Given the description of an element on the screen output the (x, y) to click on. 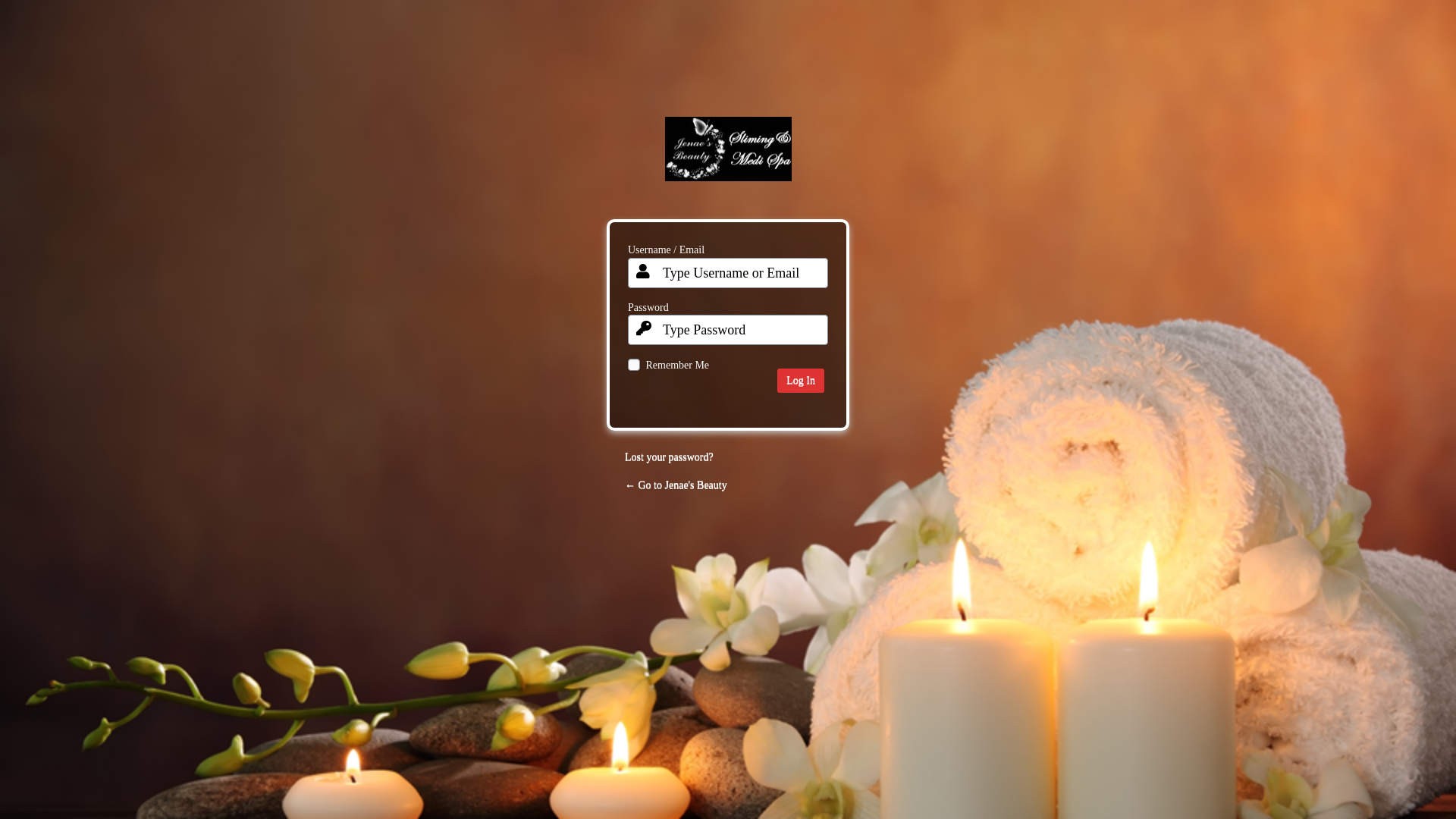
Log In Element type: text (800, 380)
Jenae\'s Beauty Element type: text (727, 159)
Lost your password? Element type: text (668, 456)
